Given the description of an element on the screen output the (x, y) to click on. 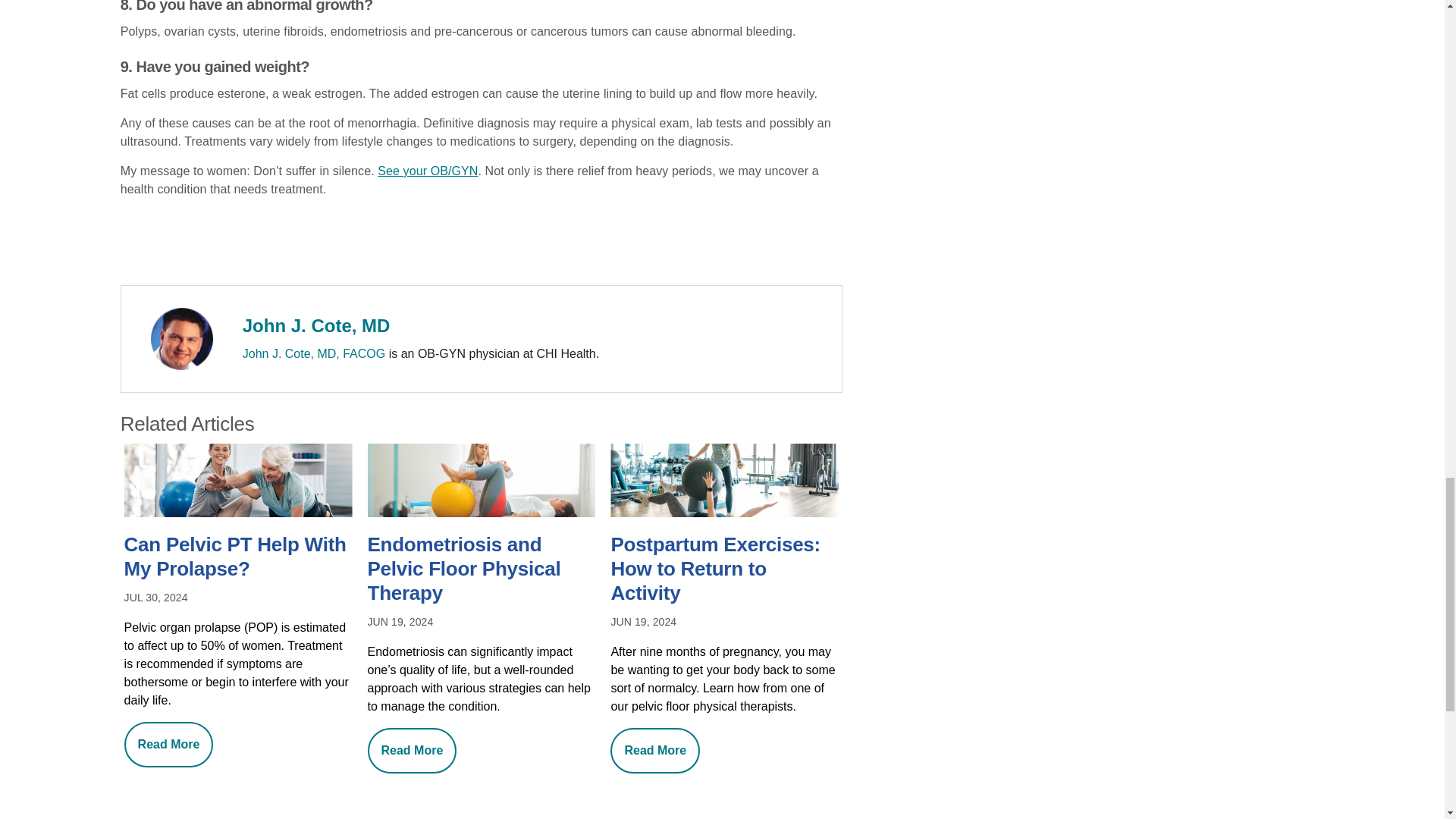
John J. Cote, MD, FACOG (314, 353)
Can Pelvic PT Help With My Prolapse? (237, 558)
Read More (168, 744)
John J. Cote, MD (316, 325)
Postpartum Exercises: How to Return to Activity (724, 570)
Read More (412, 750)
Endometriosis and Pelvic Floor Physical Therapy (481, 570)
Read More (655, 750)
